Given the description of an element on the screen output the (x, y) to click on. 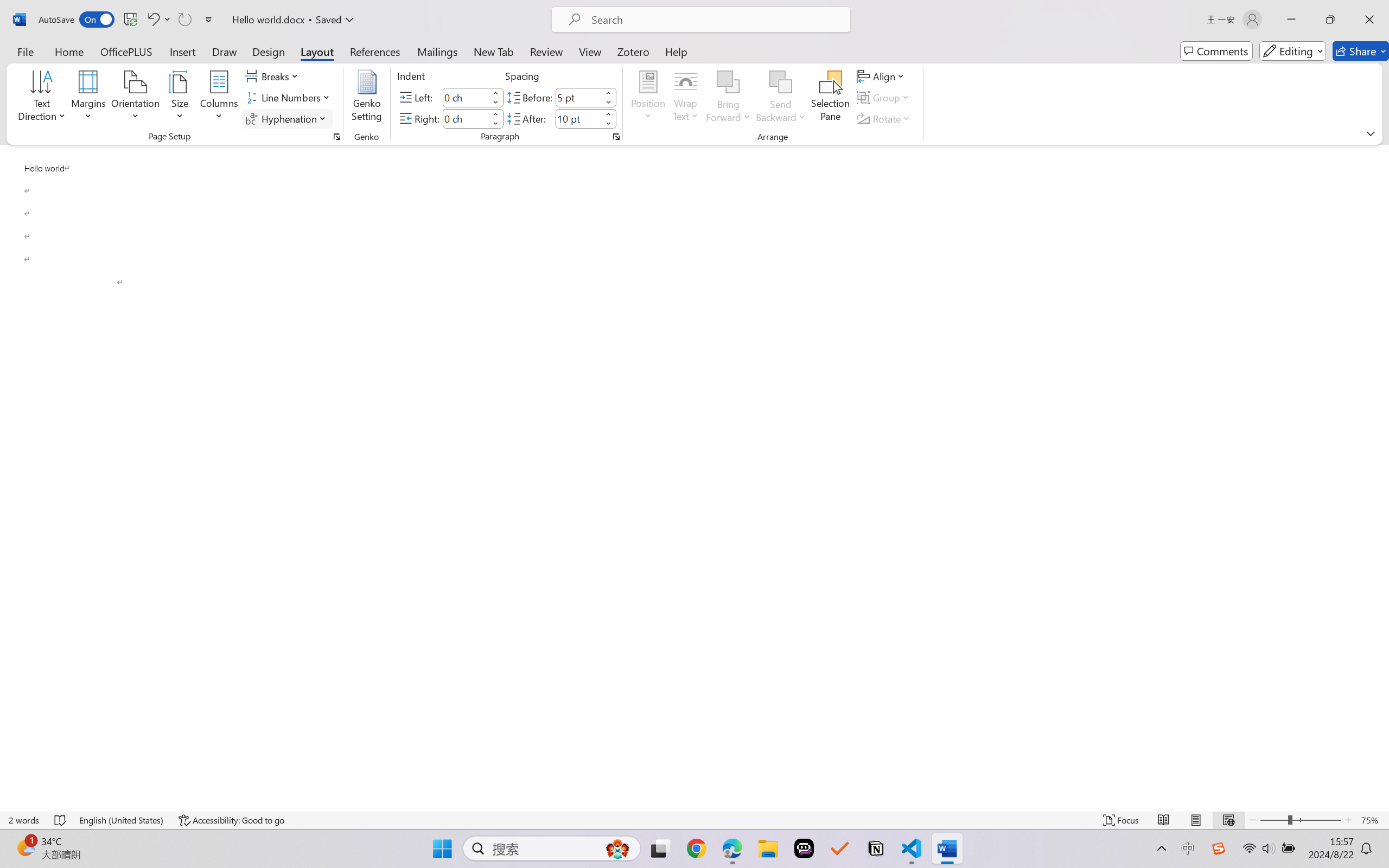
Design (268, 51)
Accessibility Checker Accessibility: Good to go (231, 819)
Spacing Before (578, 96)
Text Direction (42, 97)
Wrap Text (685, 97)
Paragraph... (615, 136)
References (375, 51)
Zoom (1300, 819)
Read Mode (1163, 819)
Editing (1292, 50)
Can't Repeat (184, 19)
Help (675, 51)
Class: Image (1218, 847)
Rotate (884, 118)
Review (546, 51)
